Given the description of an element on the screen output the (x, y) to click on. 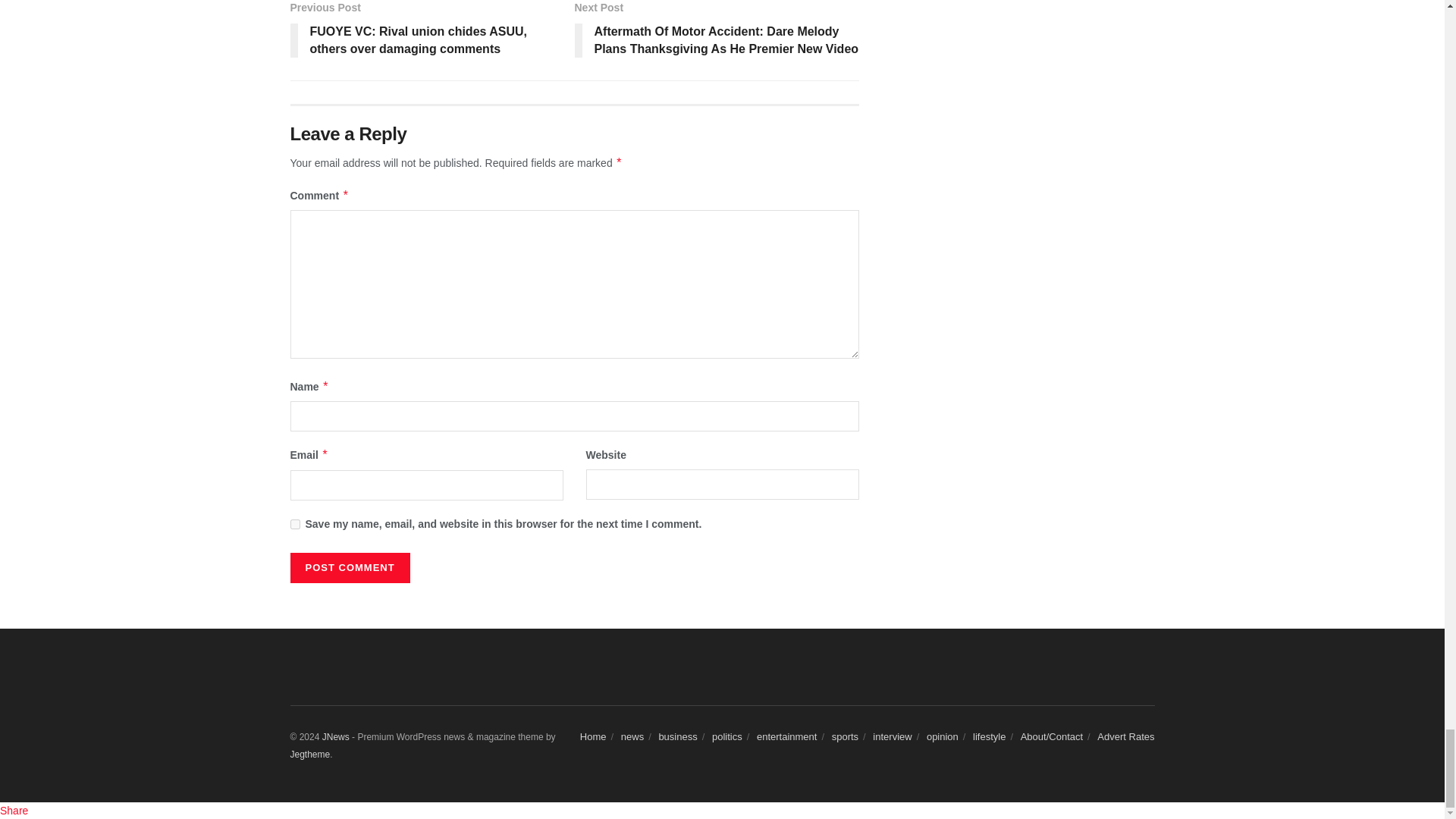
Jegtheme (309, 754)
Post Comment (349, 567)
yes (294, 524)
